Given the description of an element on the screen output the (x, y) to click on. 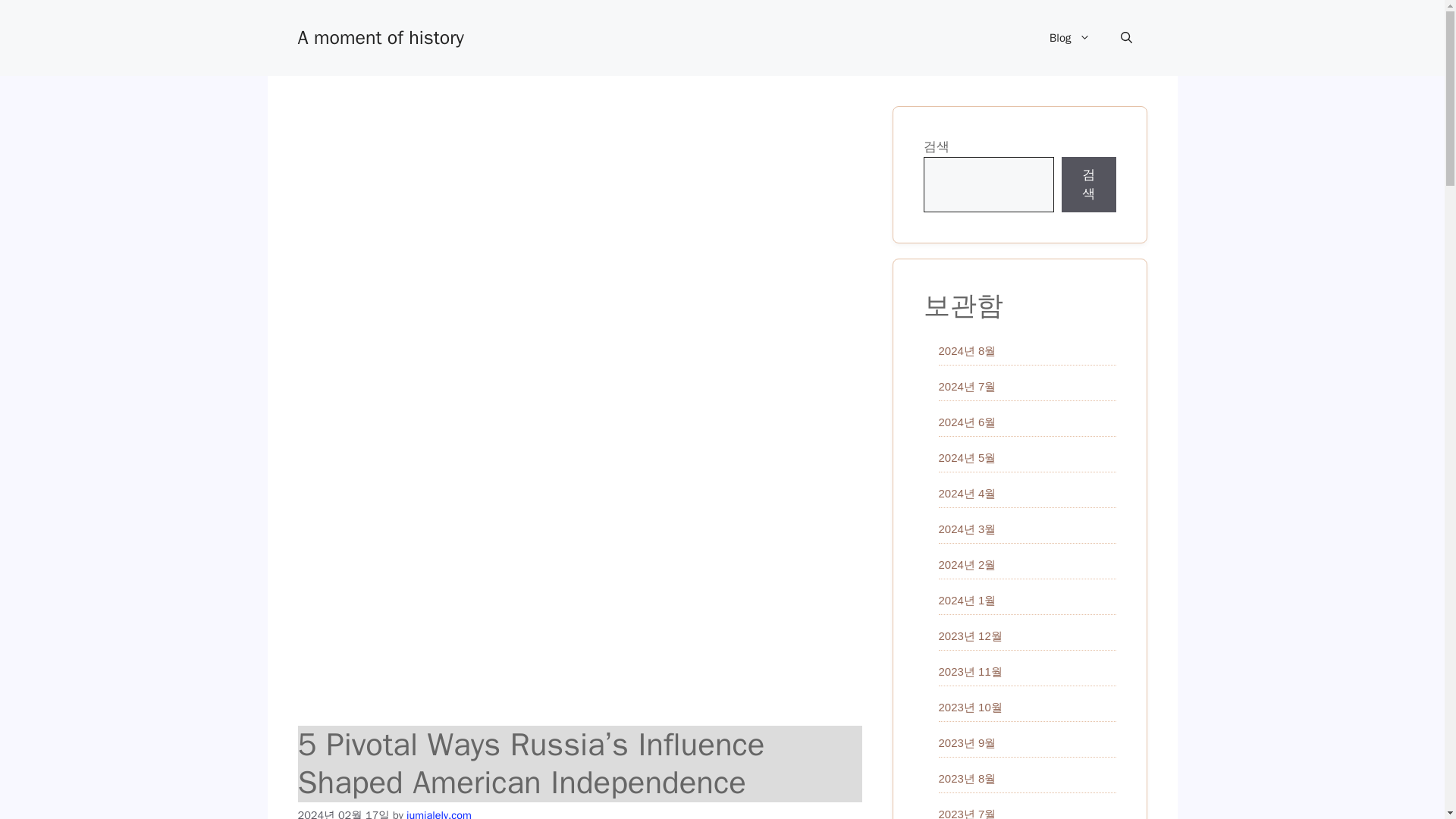
A moment of history (380, 37)
jumialely.com (438, 813)
View all posts by jumialely.com (438, 813)
Blog (1069, 37)
